Given the description of an element on the screen output the (x, y) to click on. 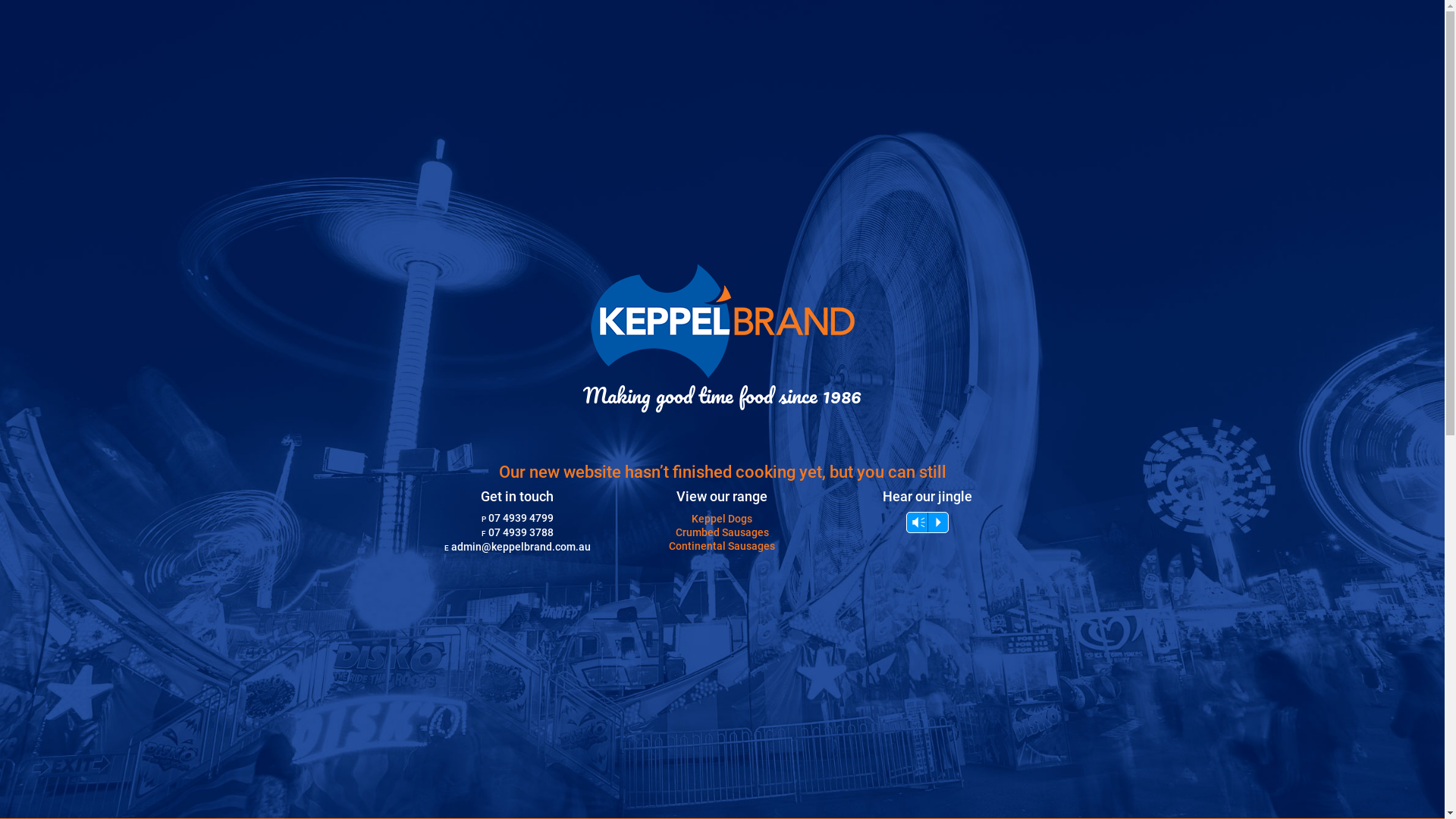
Crumbed Sausages Element type: text (721, 532)
Continental Sausages Element type: text (721, 545)
Keppel Dogs Element type: text (721, 518)
